Given the description of an element on the screen output the (x, y) to click on. 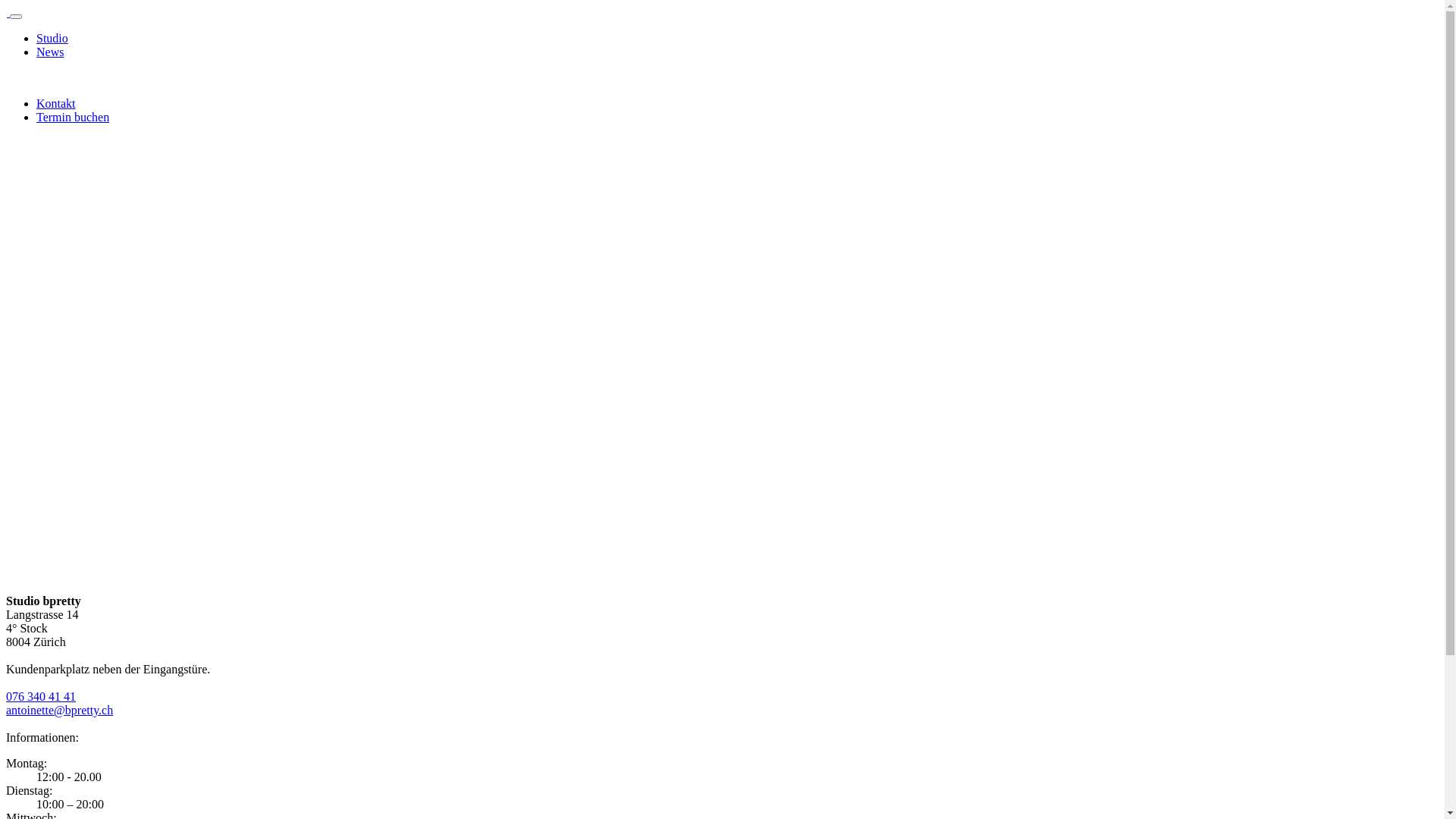
Studio Element type: text (52, 37)
Termin buchen Element type: text (72, 116)
076 340 41 41 Element type: text (40, 696)
News Element type: text (49, 51)
Kontakt Element type: text (55, 103)
antoinette@bpretty.ch Element type: text (59, 709)
